Given the description of an element on the screen output the (x, y) to click on. 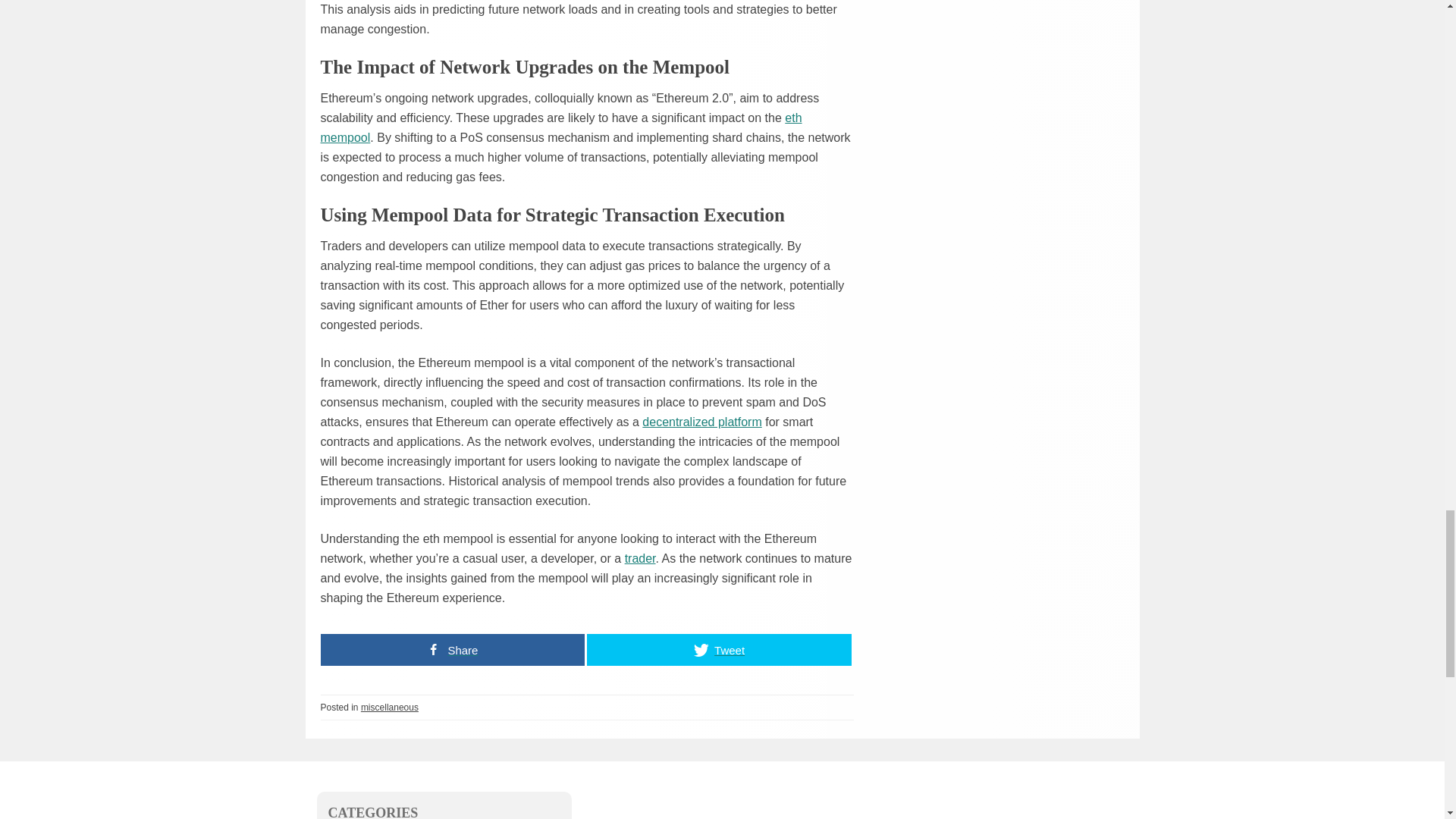
Tweet (718, 649)
eth mempool (561, 126)
trader (640, 558)
Share (452, 649)
decentralized platform (701, 421)
miscellaneous (390, 706)
